Given the description of an element on the screen output the (x, y) to click on. 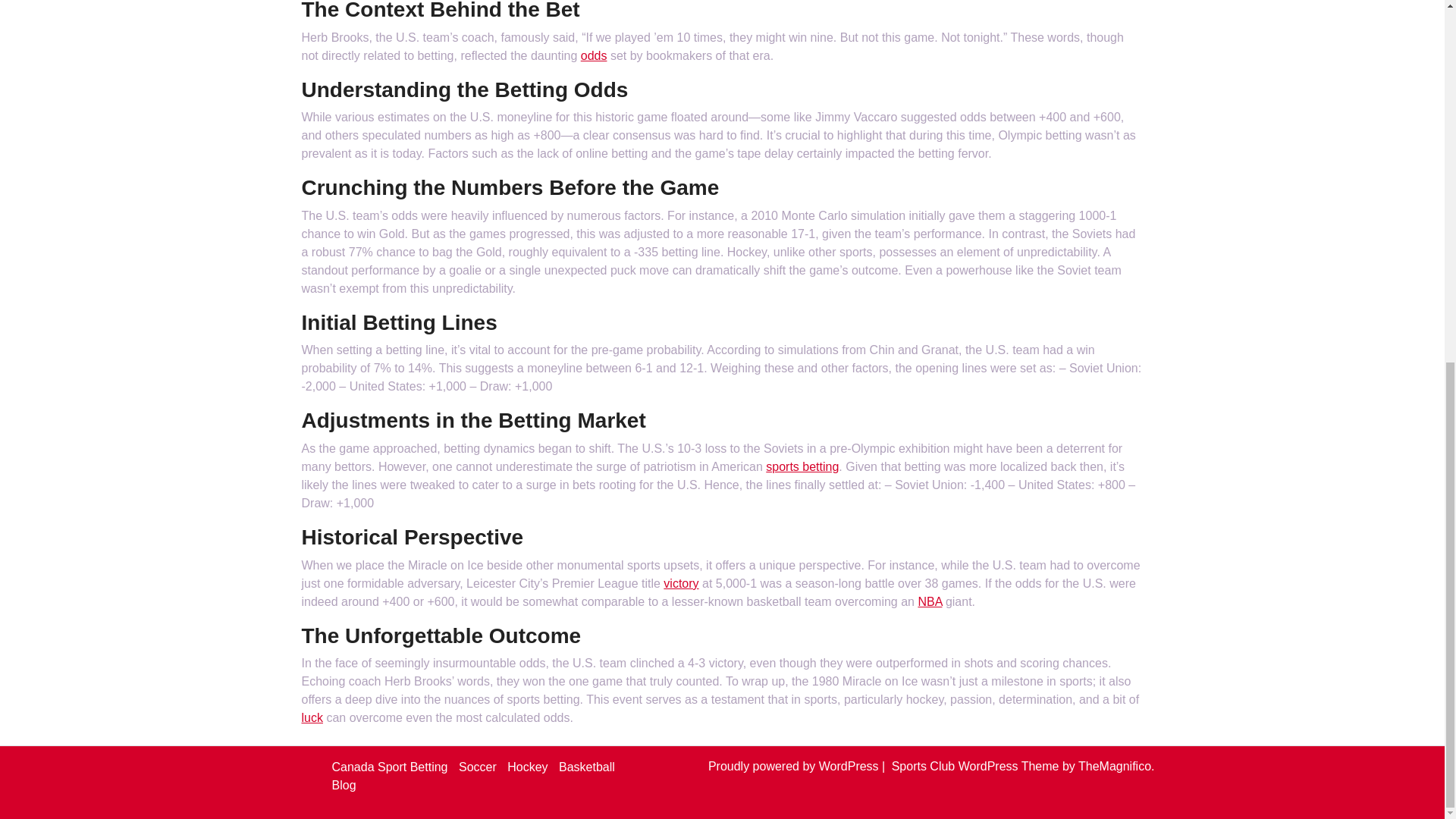
Blog (343, 784)
odds (593, 55)
Sports Club WordPress Theme (976, 766)
luck (312, 717)
Proudly powered by WordPress (794, 766)
Canada Sport Betting (389, 766)
victory (680, 583)
Soccer (477, 766)
Hockey (526, 766)
Basketball (586, 766)
